Given the description of an element on the screen output the (x, y) to click on. 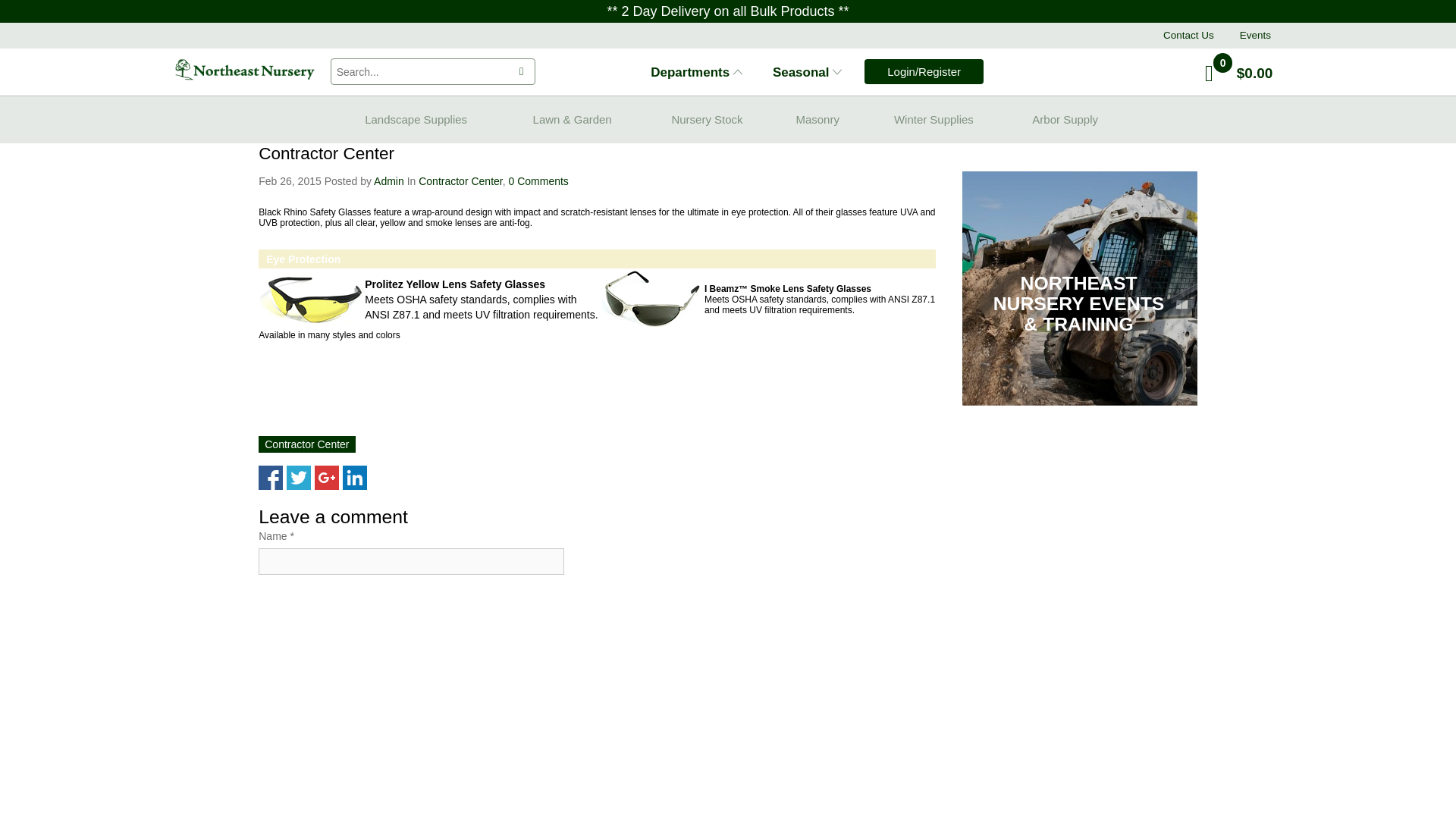
Events (1255, 34)
Contractor Center (307, 443)
Contact Us (1188, 34)
My Account (924, 71)
submit (521, 71)
Seasonal (807, 72)
Northeast Nursery (244, 69)
Contact Us (1188, 34)
Departments (696, 72)
Cart (1208, 73)
Landscape Supplies (416, 119)
